Given the description of an element on the screen output the (x, y) to click on. 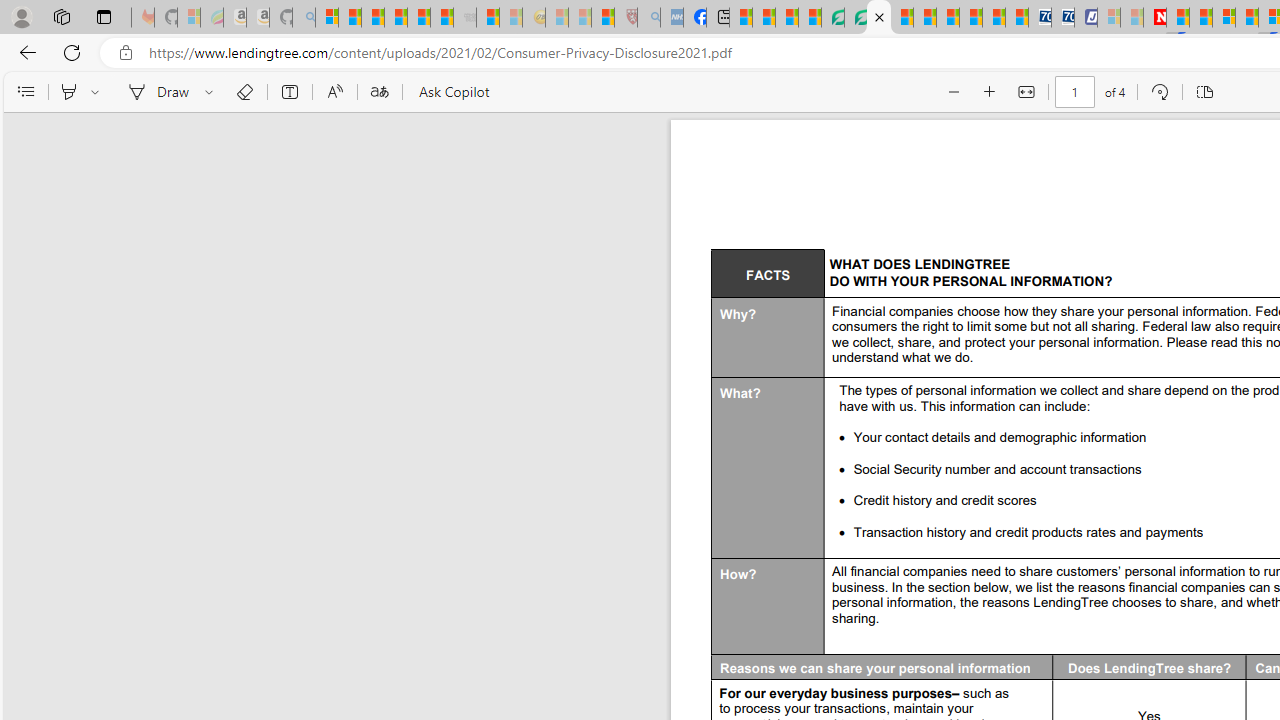
14 Common Myths Debunked By Scientific Facts (1201, 17)
Erase (244, 92)
Highlight (68, 92)
Select ink properties (212, 92)
The Weather Channel - MSN (372, 17)
Ask Copilot (452, 92)
